Given the description of an element on the screen output the (x, y) to click on. 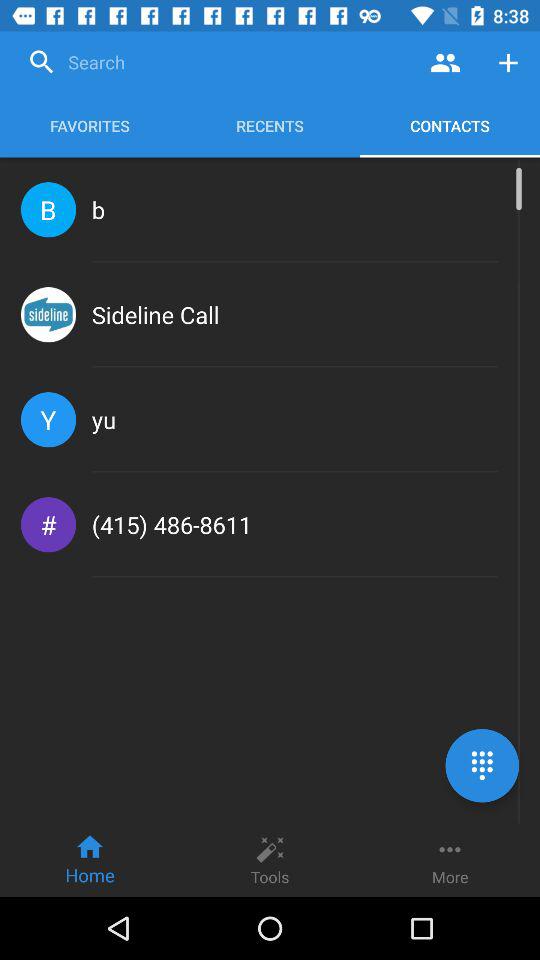
launch the (415) 486-8611 (171, 524)
